Given the description of an element on the screen output the (x, y) to click on. 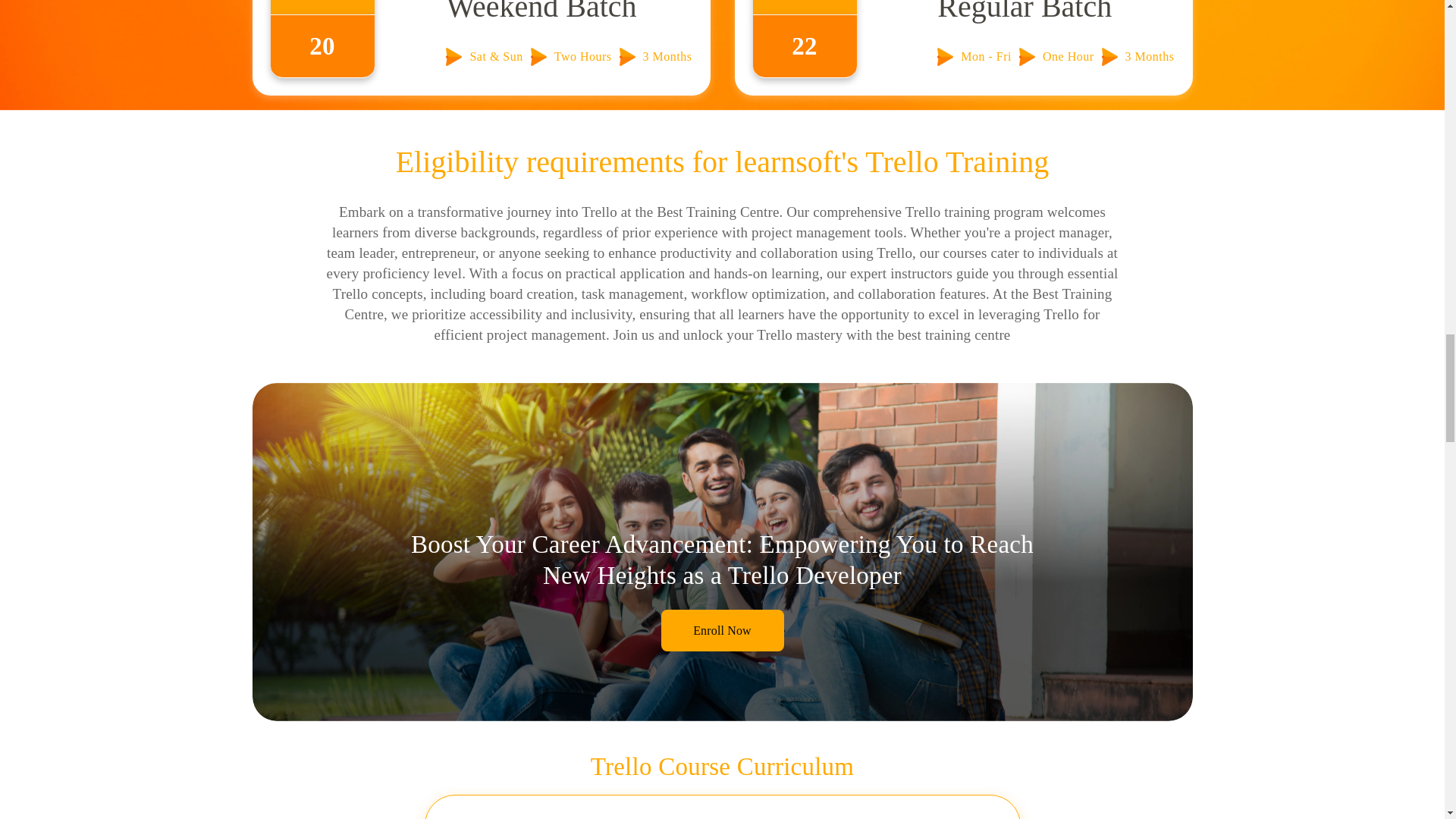
Enroll Now (722, 630)
